Given the description of an element on the screen output the (x, y) to click on. 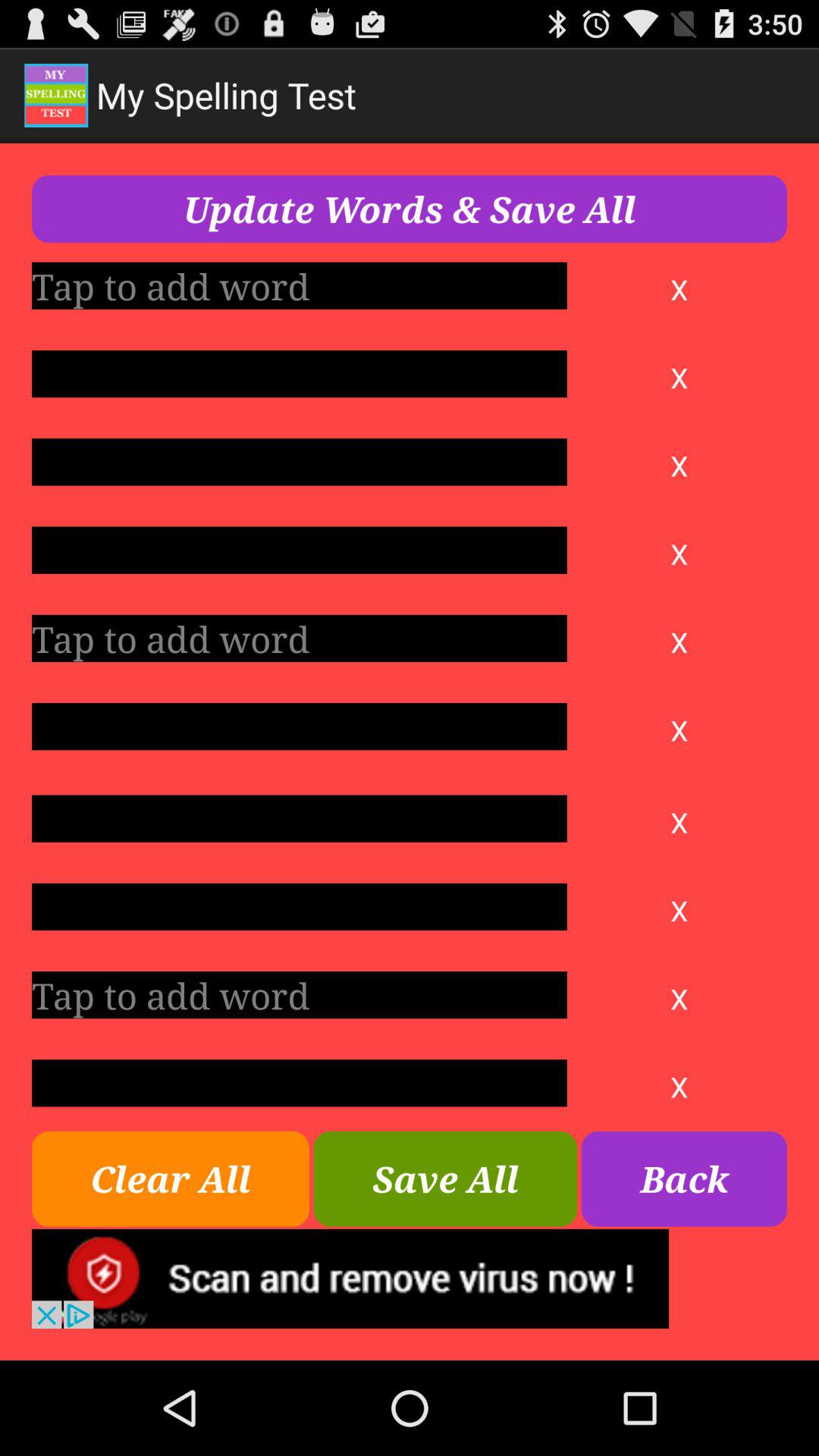
enter text (299, 373)
